Given the description of an element on the screen output the (x, y) to click on. 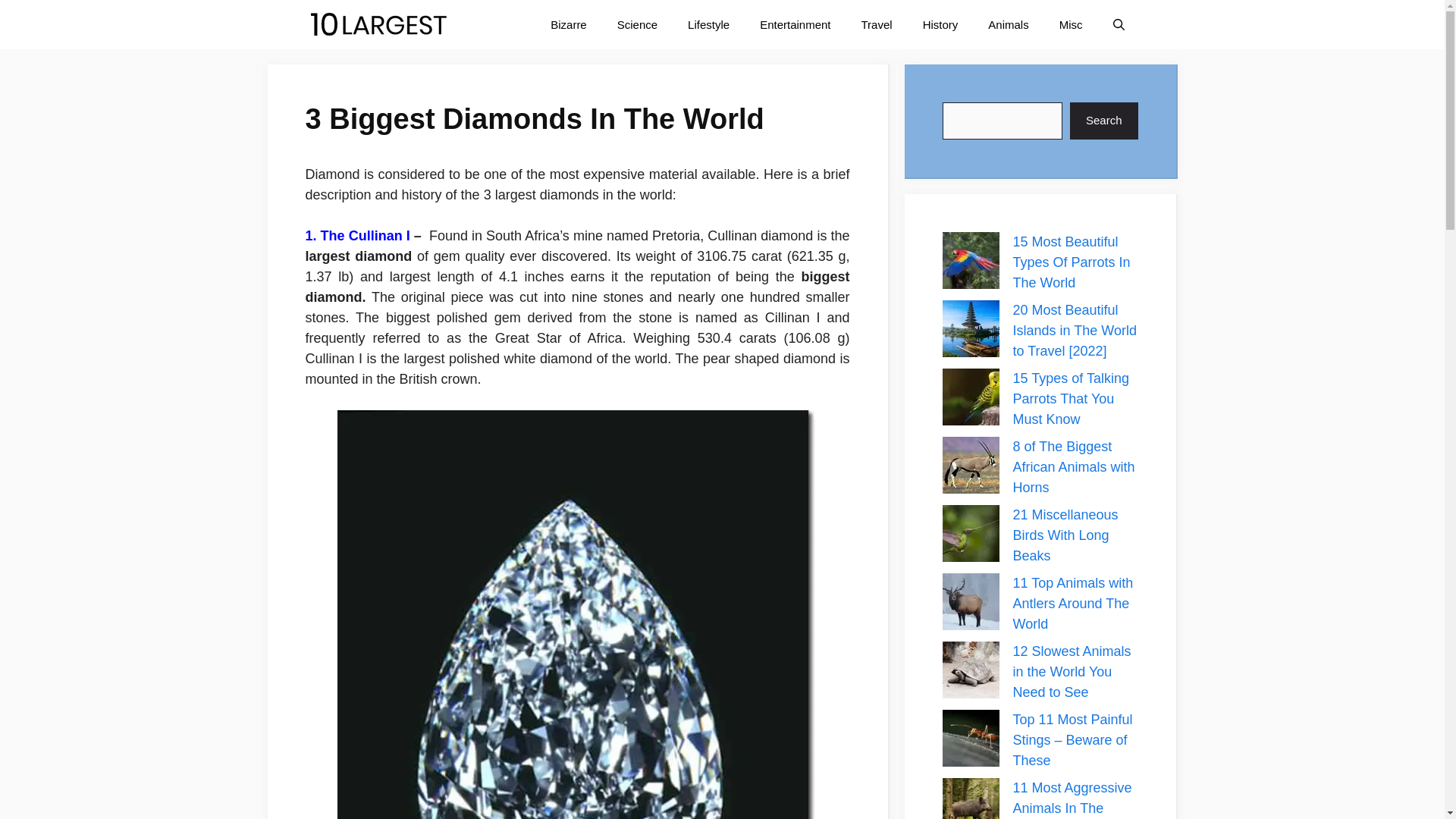
15 Types of Talking Parrots That You Must Know Element type: text (1071, 398)
Science Element type: text (637, 24)
Search Element type: text (1104, 120)
10Largest Element type: hover (377, 24)
Lifestyle Element type: text (708, 24)
Animals Element type: text (1007, 24)
15 Most Beautiful Types Of Parrots In The World Element type: text (1071, 262)
Travel Element type: text (876, 24)
11 Top Animals with Antlers Around The World Element type: text (1073, 603)
Misc Element type: text (1071, 24)
Bizarre Element type: text (568, 24)
21 Miscellaneous Birds With Long Beaks Element type: text (1065, 535)
12 Slowest Animals in the World You Need to See Element type: text (1072, 671)
History Element type: text (940, 24)
8 of The Biggest African Animals with Horns Element type: text (1074, 467)
20 Most Beautiful Islands in The World to Travel [2022] Element type: text (1074, 330)
Entertainment Element type: text (794, 24)
